Given the description of an element on the screen output the (x, y) to click on. 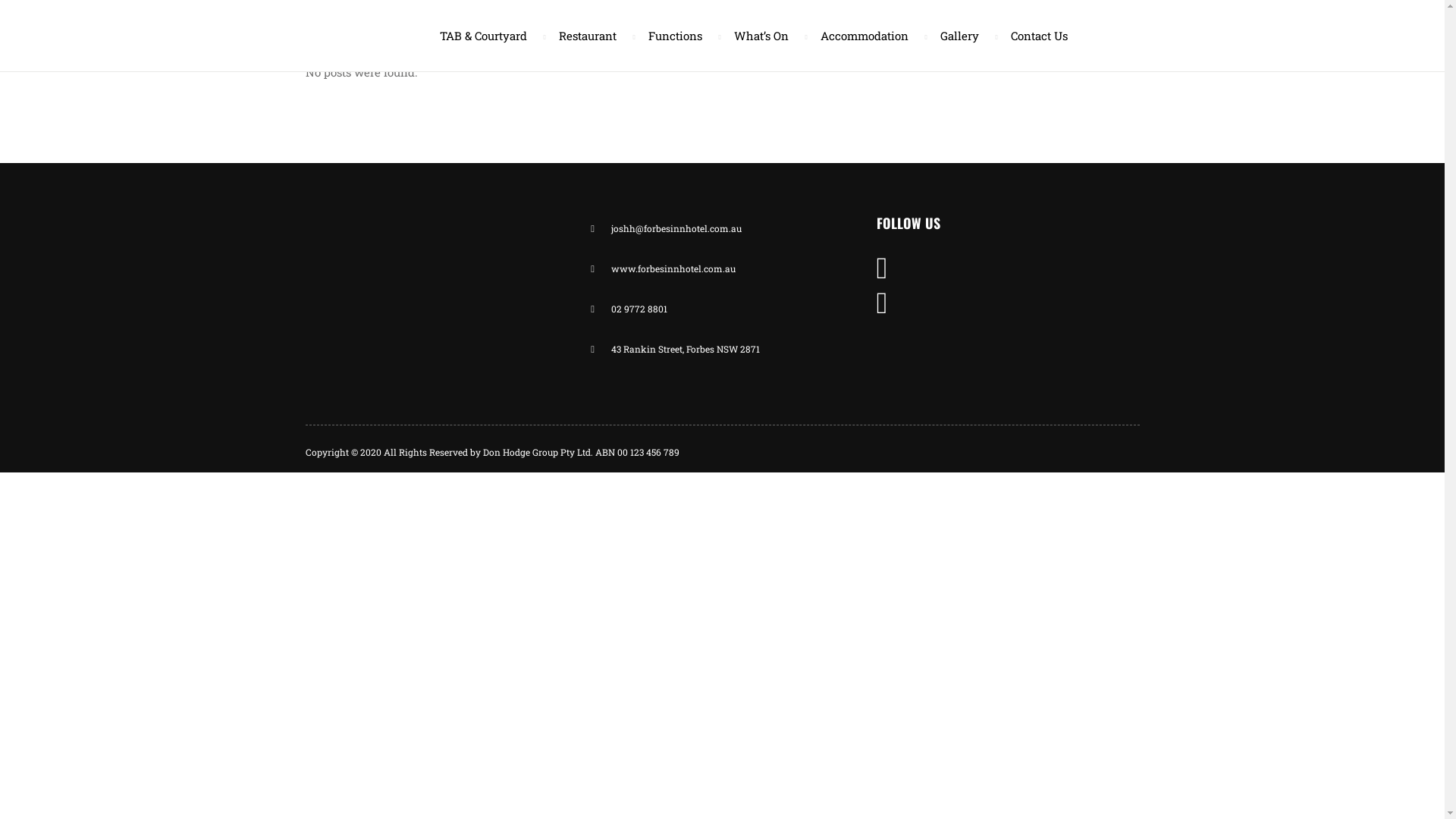
Functions Element type: text (678, 35)
joshh@forbesinnhotel.com.au Element type: text (721, 228)
TAB & Courtyard Element type: text (484, 35)
Accommodation Element type: text (867, 35)
Contact Us Element type: text (1032, 35)
www.forbesinnhotel.com.au Element type: text (721, 268)
Gallery Element type: text (962, 35)
Restaurant Element type: text (590, 35)
